Given the description of an element on the screen output the (x, y) to click on. 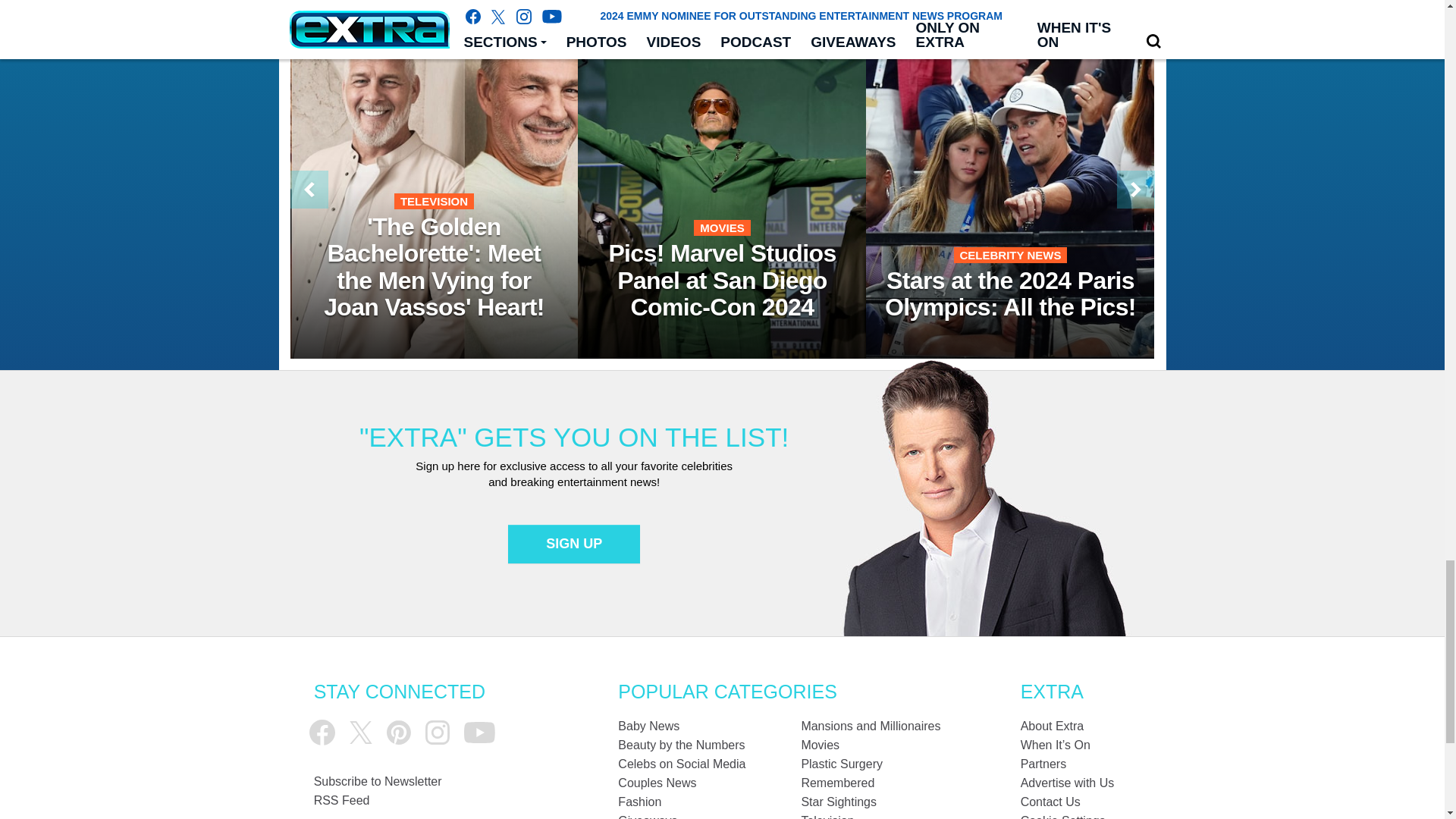
Twitter (360, 732)
YouTube (479, 732)
Pinterest (398, 732)
Facebook (321, 732)
Instagram (437, 732)
